Given the description of an element on the screen output the (x, y) to click on. 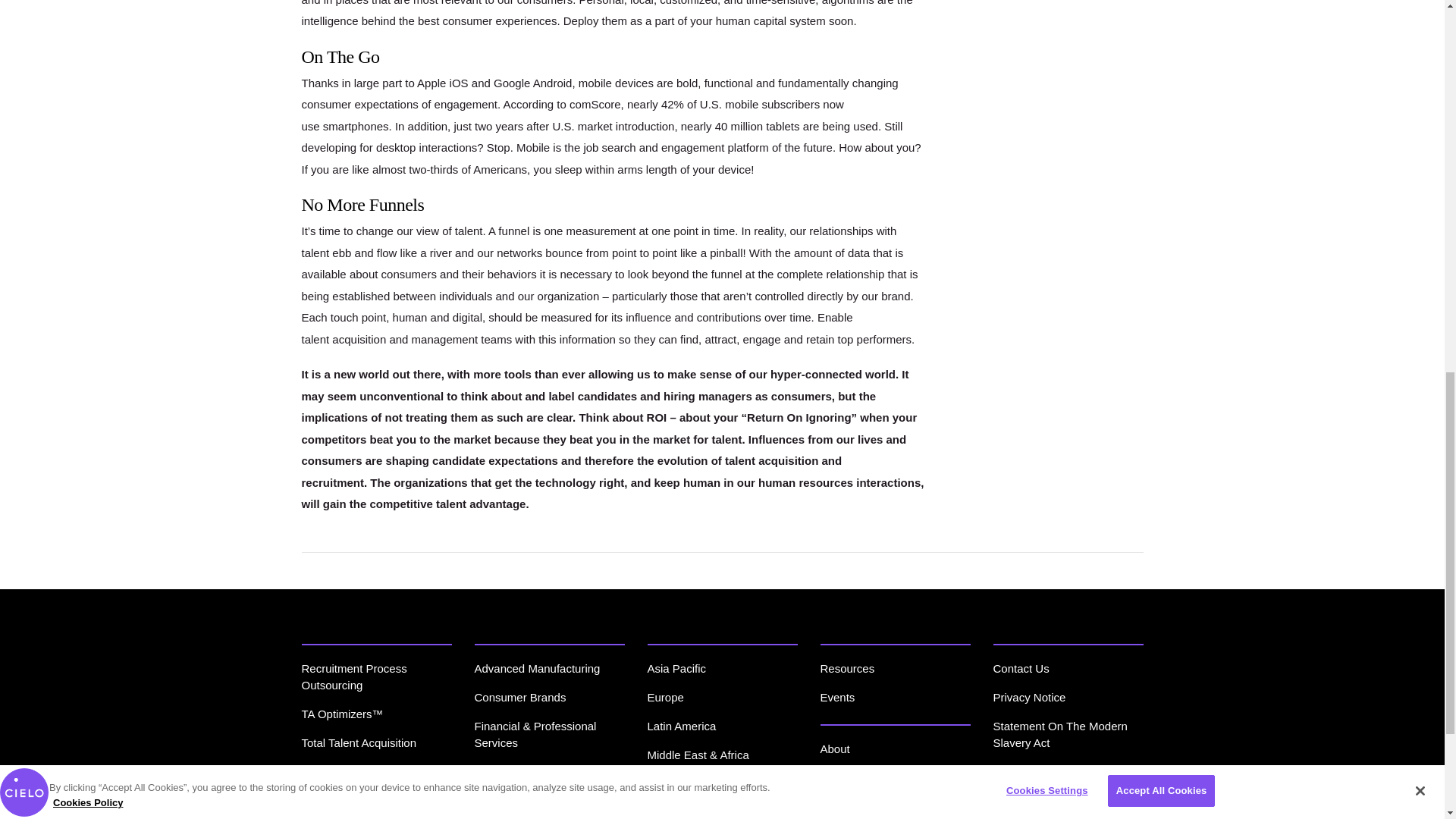
PoSH Policy - India (1041, 771)
Contact Us (1020, 667)
Leadership (848, 777)
Privacy Notice (1028, 697)
Life Sciences (507, 799)
Europe (665, 697)
Consulting (328, 799)
Advanced Manufacturing (536, 667)
Recruitment Process Outsourcing (354, 676)
Latin America (681, 725)
North America (683, 783)
Statement On The Modern Slavery Act (1059, 734)
Events (838, 697)
Resources (848, 667)
About (835, 748)
